Given the description of an element on the screen output the (x, y) to click on. 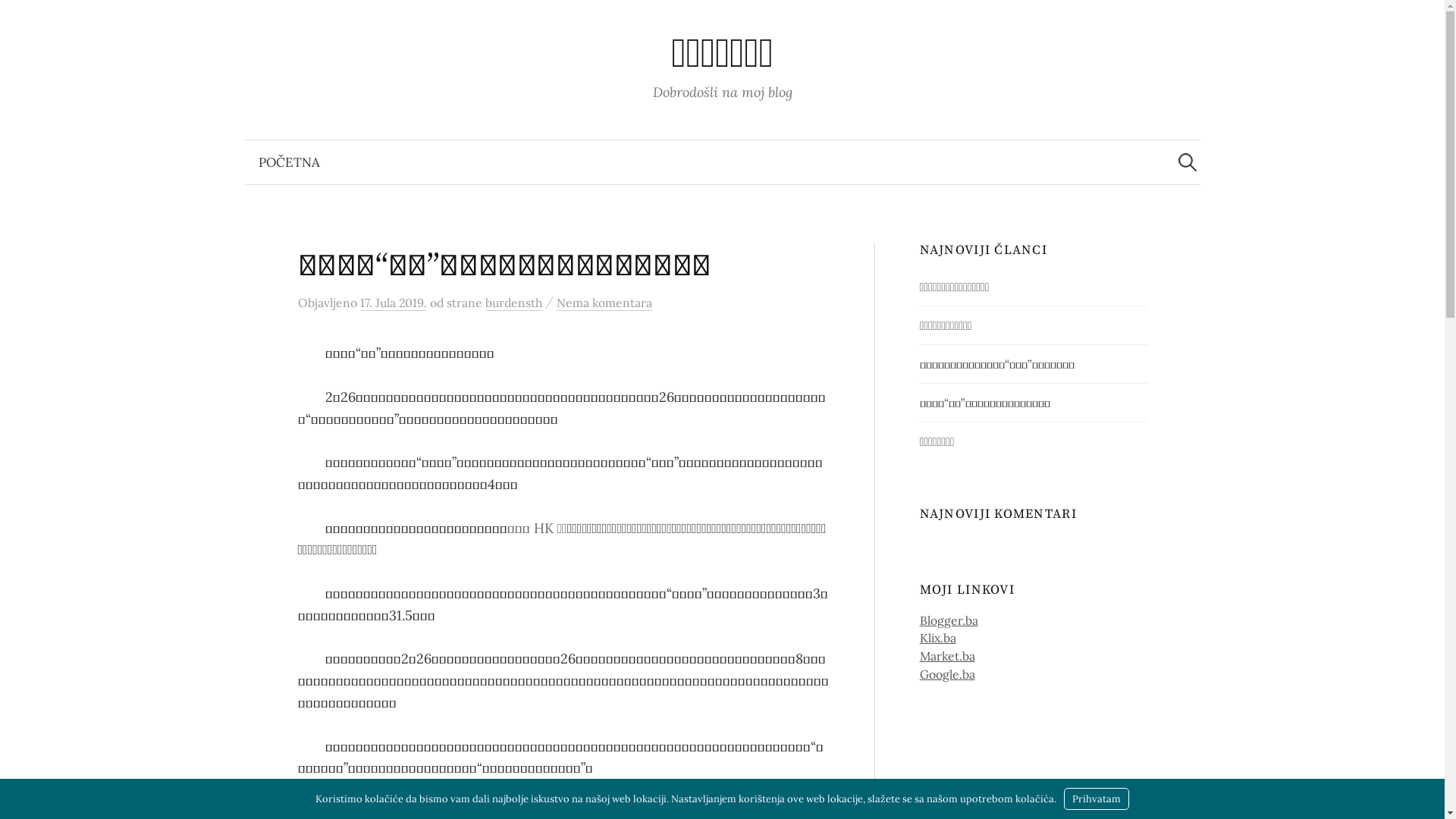
Market.ba Element type: text (947, 655)
burdensth Element type: text (513, 302)
Google.ba Element type: text (947, 673)
Blogger.ba Element type: text (948, 619)
Klix.ba Element type: text (937, 637)
Pretraga Element type: text (18, 18)
17. Jula 2019. Element type: text (392, 302)
Prihvatam Element type: text (1096, 798)
